Given the description of an element on the screen output the (x, y) to click on. 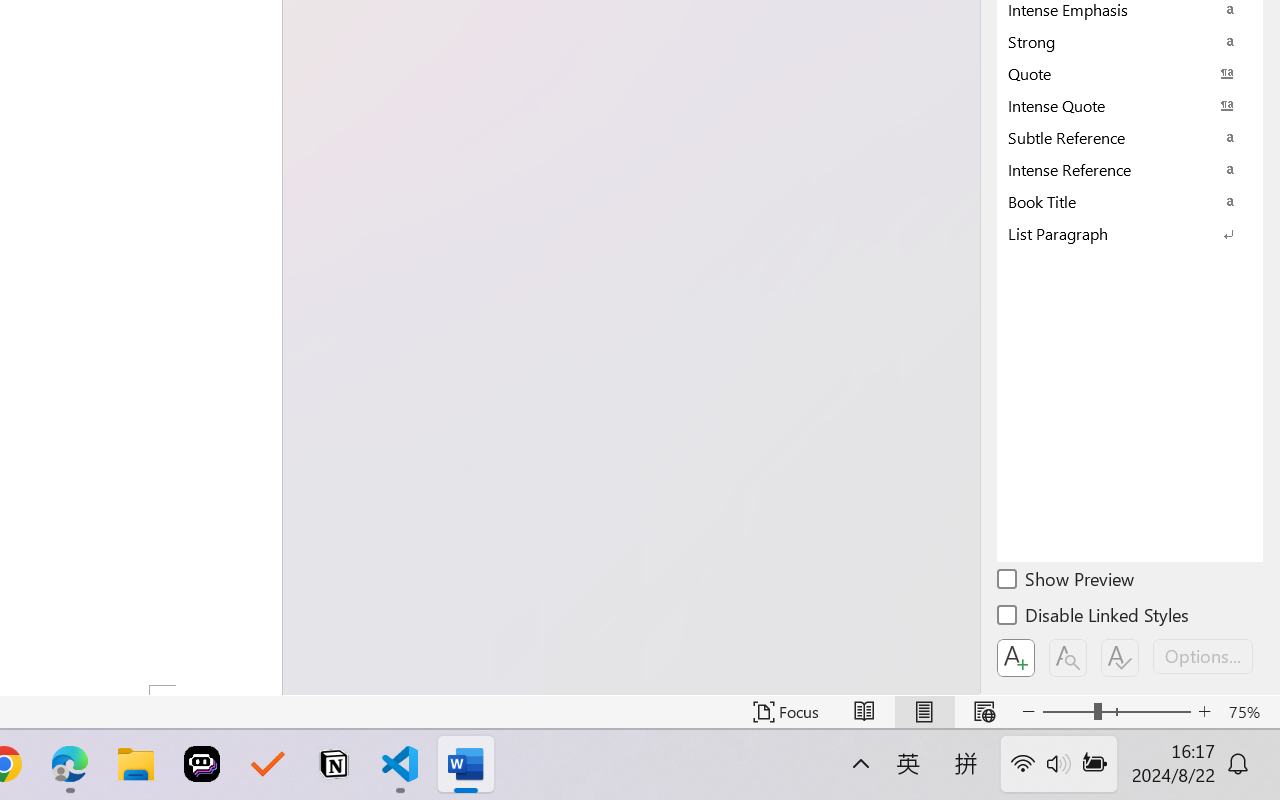
Options... (1203, 656)
Zoom 75% (1249, 712)
Notion (333, 764)
Subtle Reference (1130, 137)
Show Preview (1067, 582)
Intense Reference (1130, 169)
Class: NetUIButton (1119, 657)
